Given the description of an element on the screen output the (x, y) to click on. 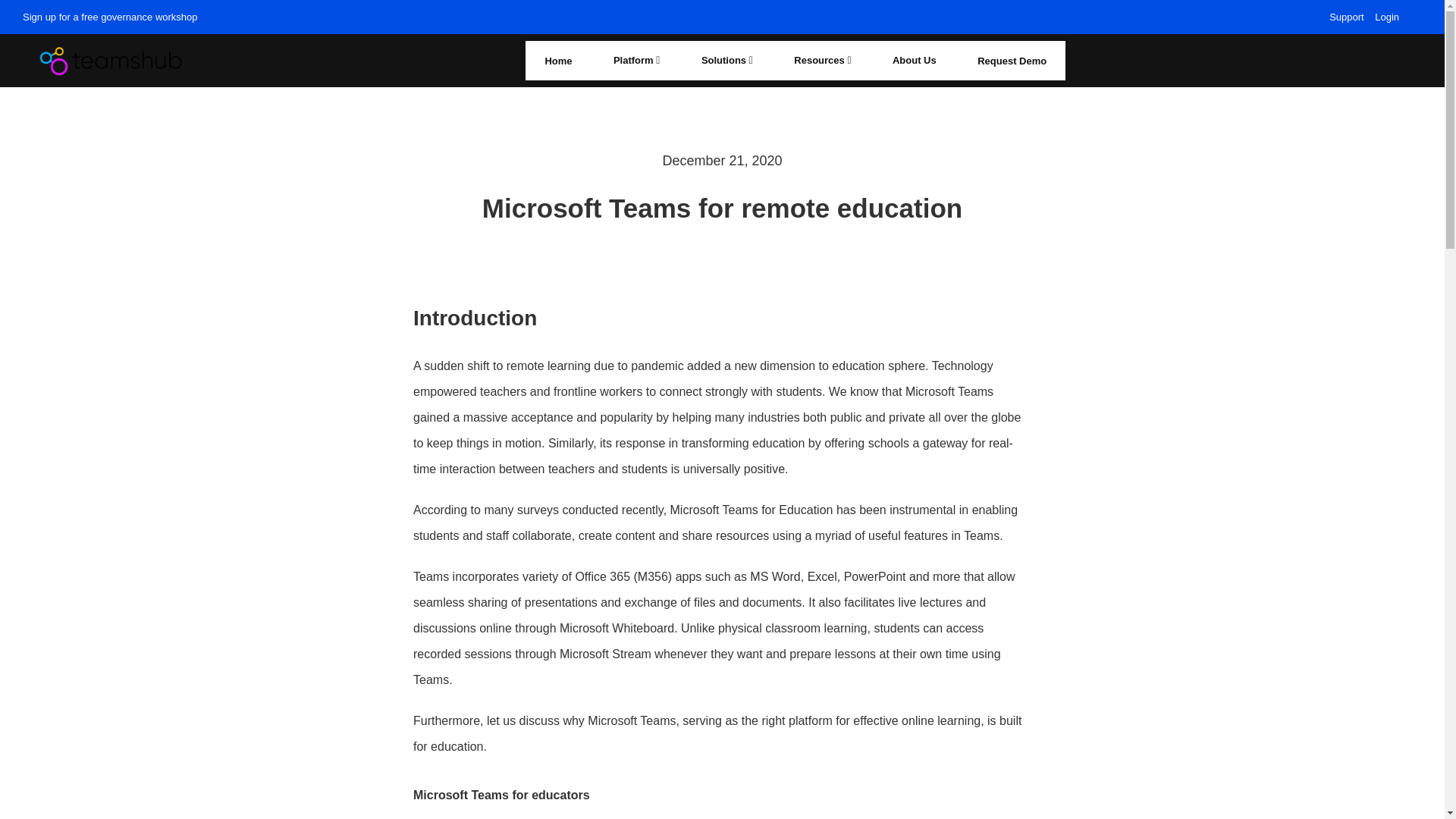
Sign up for a free governance workshop (110, 16)
Platform (635, 60)
Solutions (727, 60)
About Us (914, 60)
Support (1346, 16)
Resources (822, 60)
Home (558, 61)
Request Demo (1011, 61)
Login (1387, 16)
Microsoft Teams for Education (750, 509)
